Given the description of an element on the screen output the (x, y) to click on. 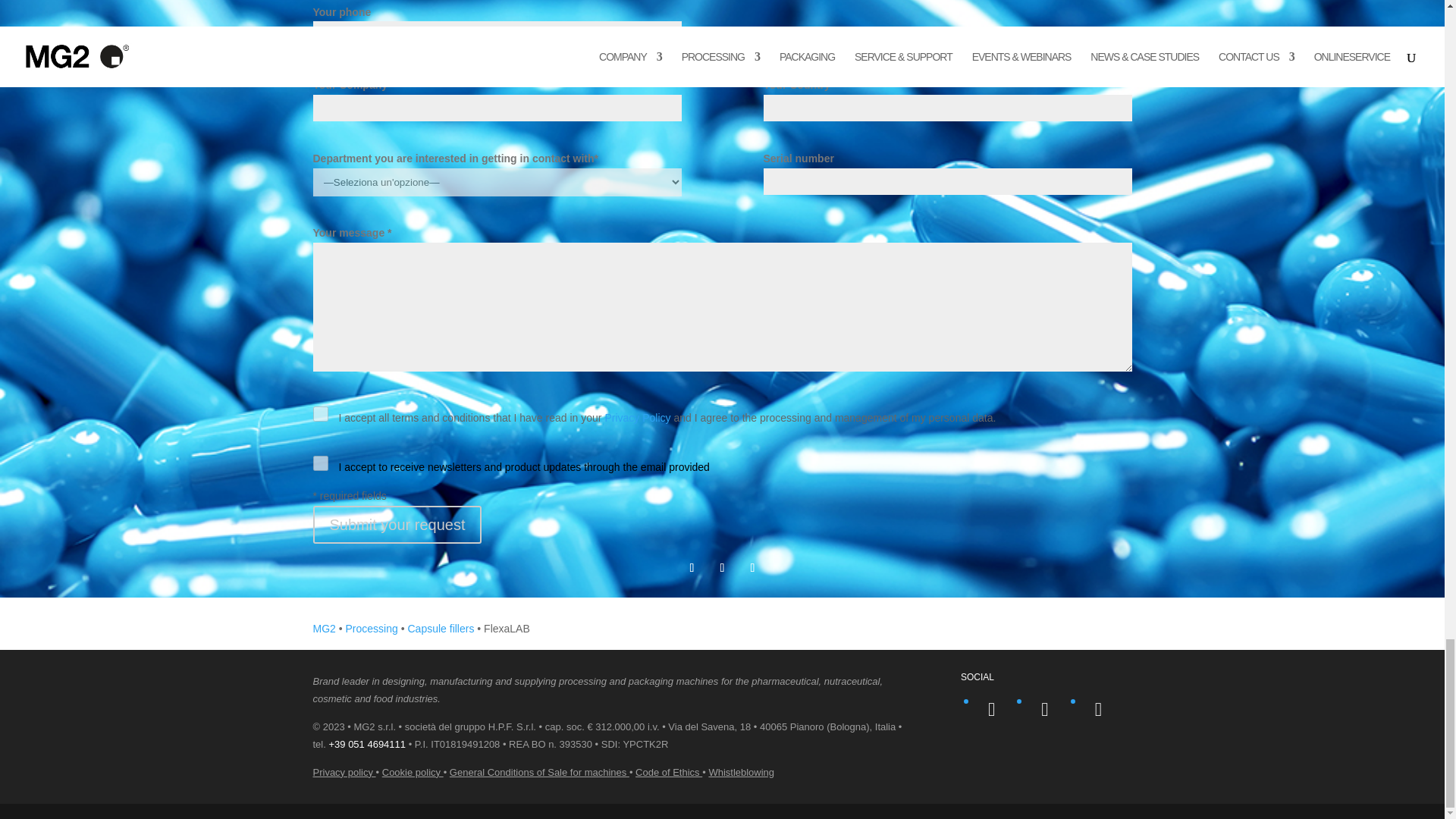
1 (320, 413)
Follow on LinkedIn (751, 567)
Privacy Policy (636, 417)
Follow on Youtube (721, 567)
Submit your request (397, 524)
Follow on Facebook (691, 567)
